Given the description of an element on the screen output the (x, y) to click on. 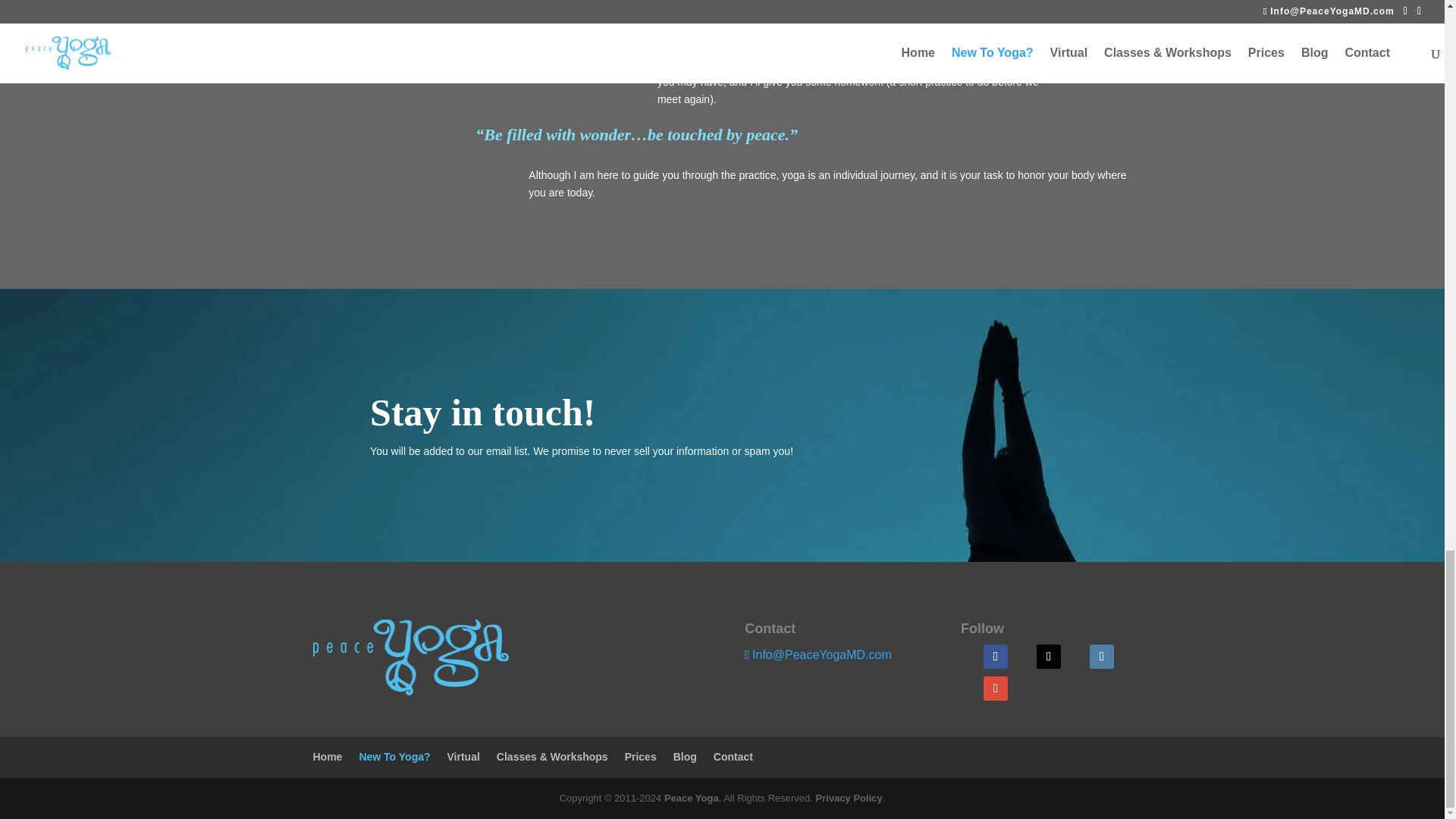
Follow on Twitter (1048, 656)
Virtual (463, 756)
Follow on Instagram (1101, 656)
Peace Yoga (691, 797)
Contact (732, 756)
Home (327, 756)
Follow on google-plus (995, 688)
Follow on Facebook (995, 656)
Privacy Policy (848, 797)
New To Yoga? (393, 756)
Prices (640, 756)
Blog (684, 756)
